Given the description of an element on the screen output the (x, y) to click on. 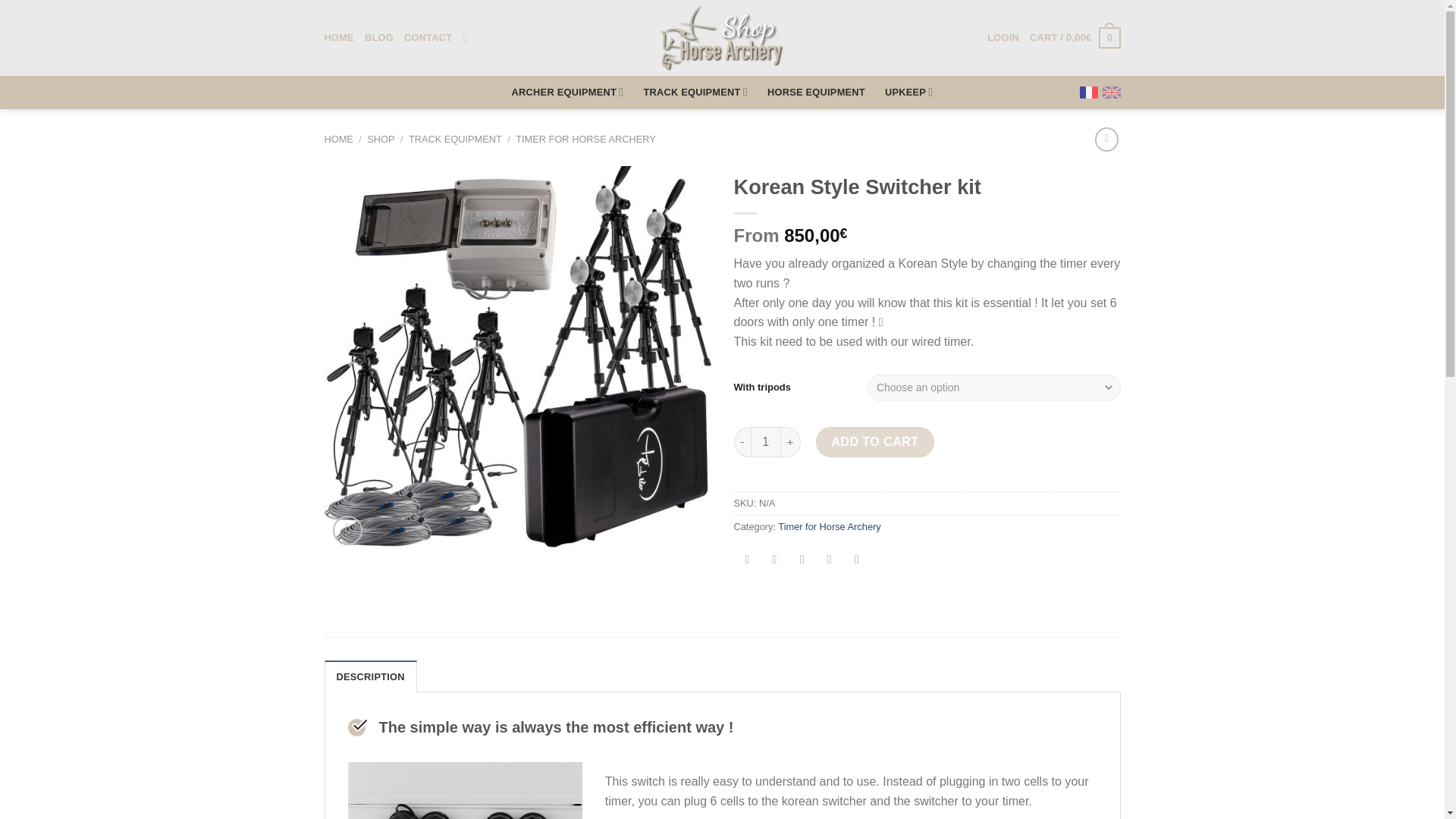
LOGIN (1003, 37)
TIMER FOR HORSE ARCHERY (585, 138)
HOME (338, 37)
HORSE EQUIPMENT (815, 92)
TRACK EQUIPMENT (455, 138)
BLOG (379, 37)
ADD TO CART (874, 441)
TRACK EQUIPMENT (695, 91)
UPKEEP (909, 91)
HOME (338, 138)
Cart (1074, 37)
ARCHER EQUIPMENT (568, 91)
CONTACT (427, 37)
Qty (765, 441)
